Given the description of an element on the screen output the (x, y) to click on. 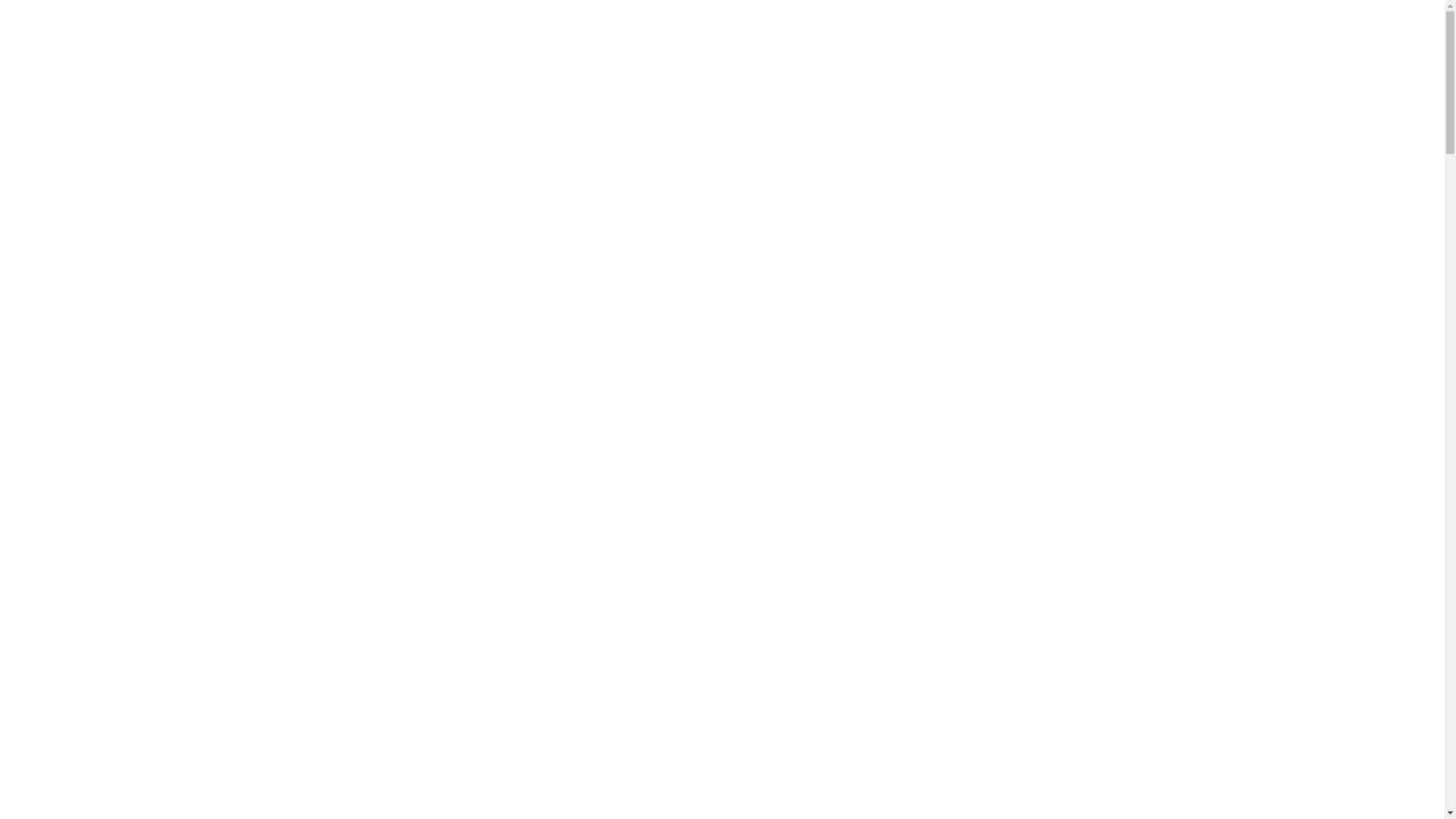
Boxfit-Bern Element type: text (343, 29)
MMA TRAINING Element type: text (988, 30)
KONTAKT Element type: text (1080, 30)
